Given the description of an element on the screen output the (x, y) to click on. 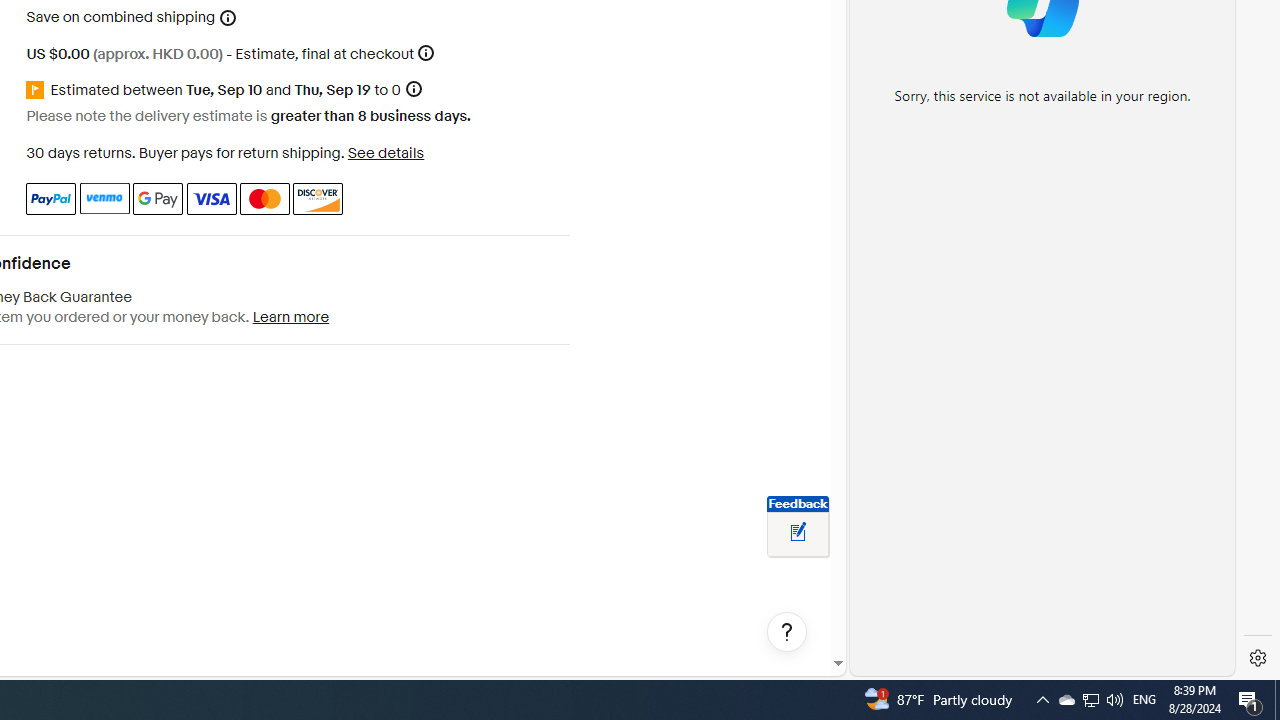
See details - for more information about returns (385, 152)
